Given the description of an element on the screen output the (x, y) to click on. 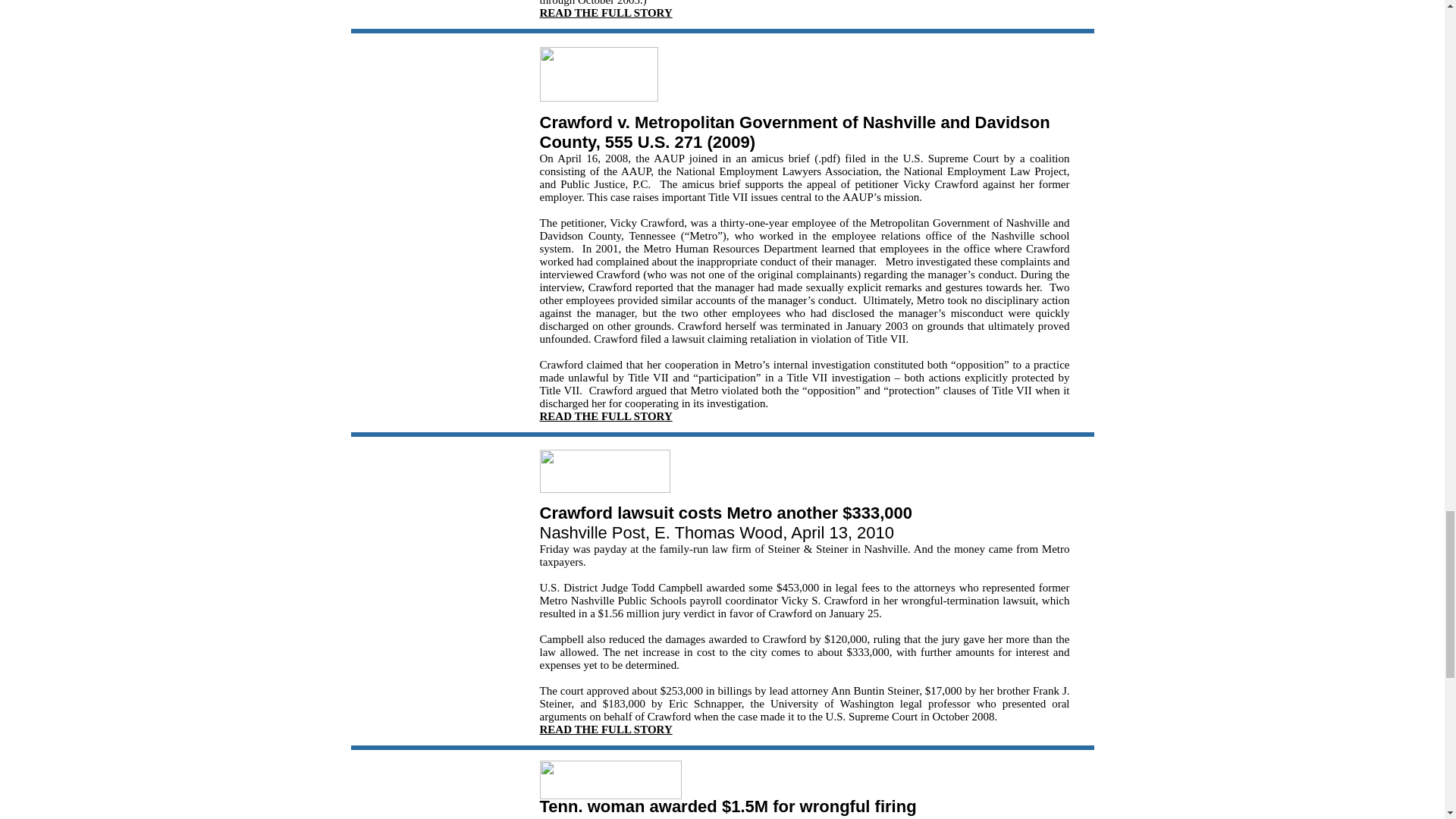
READ THE FULL STORY (606, 12)
READ THE FULL STORY (606, 729)
READ THE FULL STORY (606, 416)
